Given the description of an element on the screen output the (x, y) to click on. 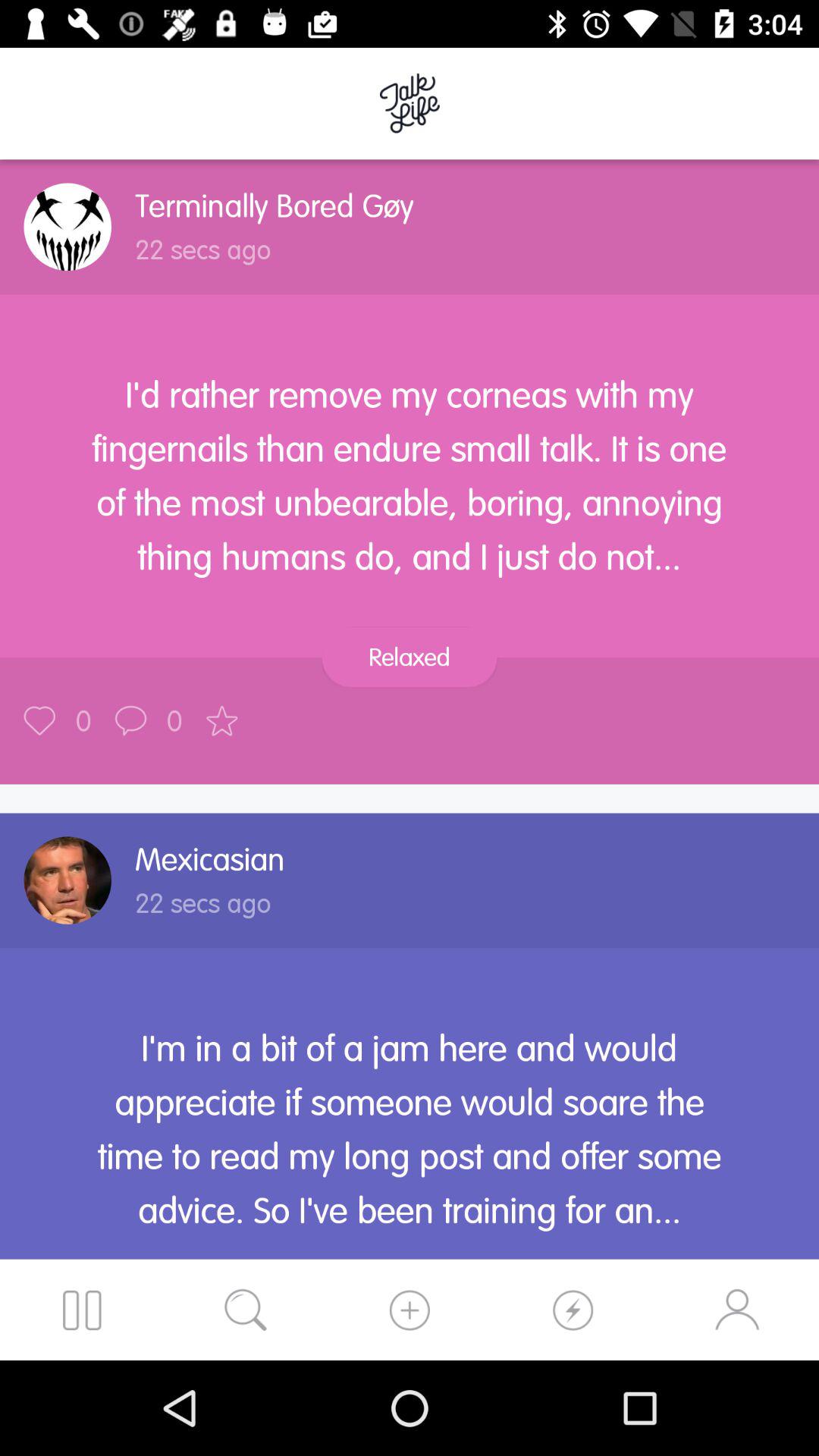
go to profile (67, 226)
